Given the description of an element on the screen output the (x, y) to click on. 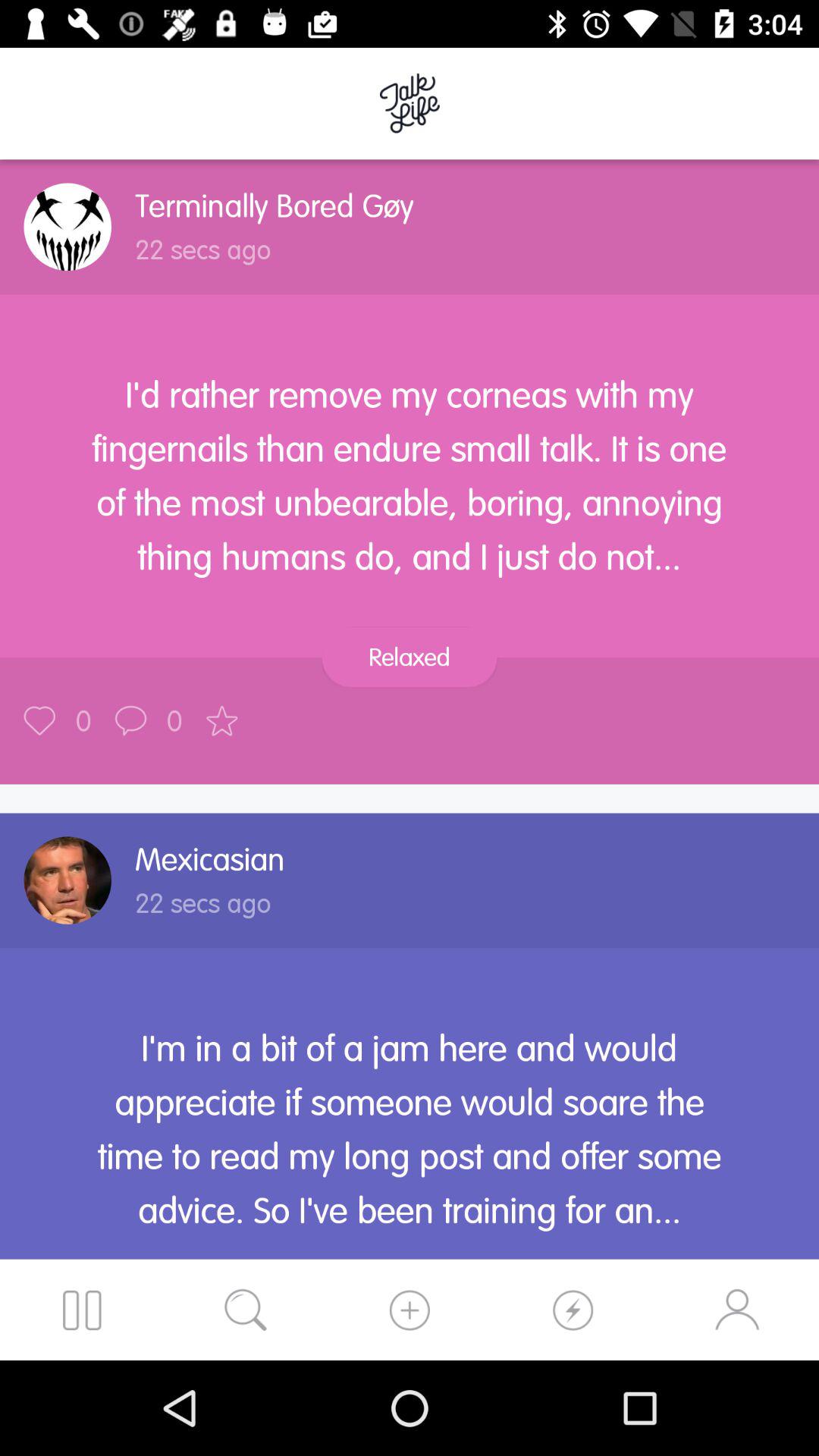
go to profile (67, 226)
